Given the description of an element on the screen output the (x, y) to click on. 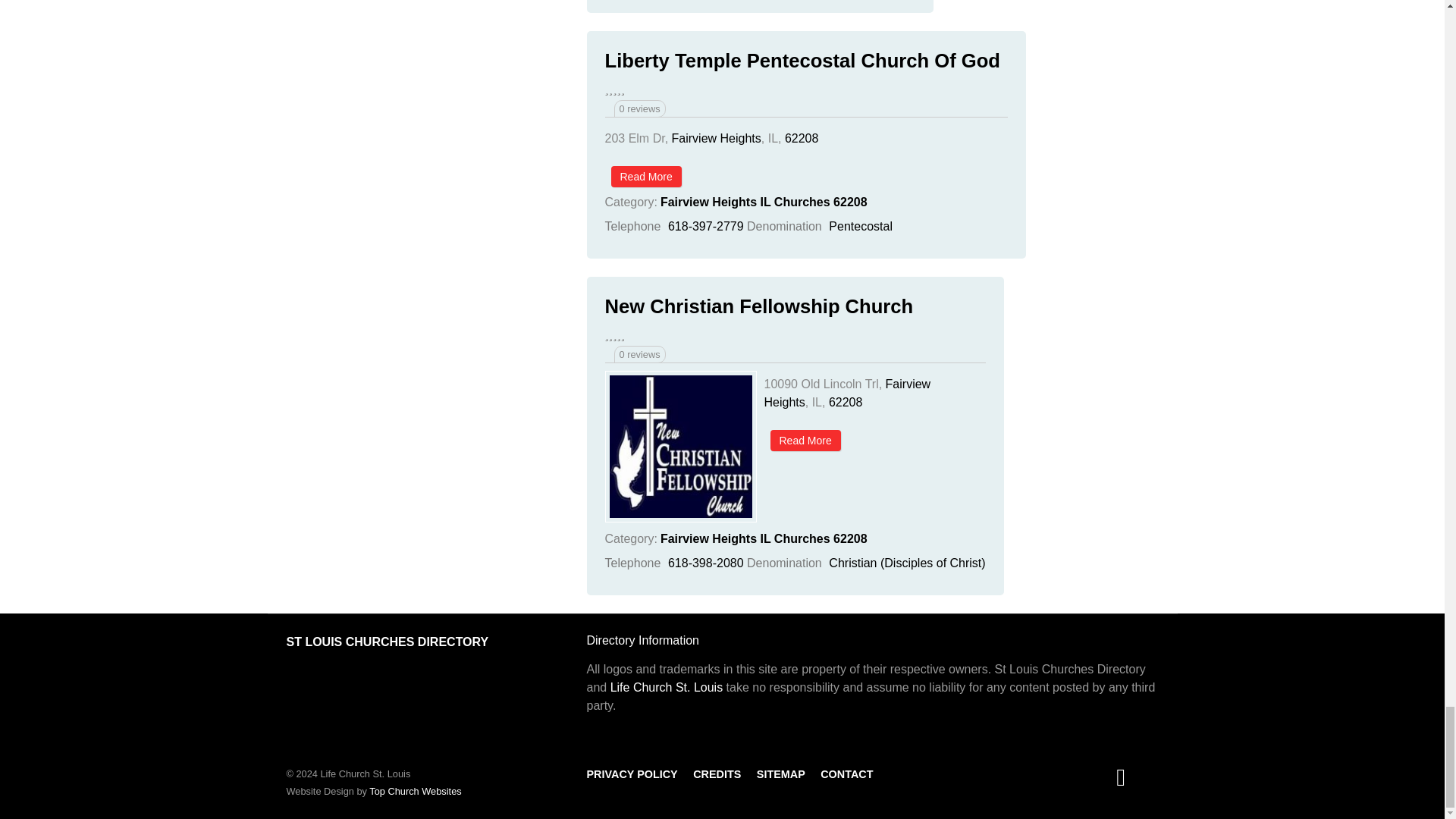
Sitemap (781, 774)
St Louis Churches Directory (387, 641)
Credits (717, 774)
Contact (846, 774)
Privacy Policy (632, 774)
